Given the description of an element on the screen output the (x, y) to click on. 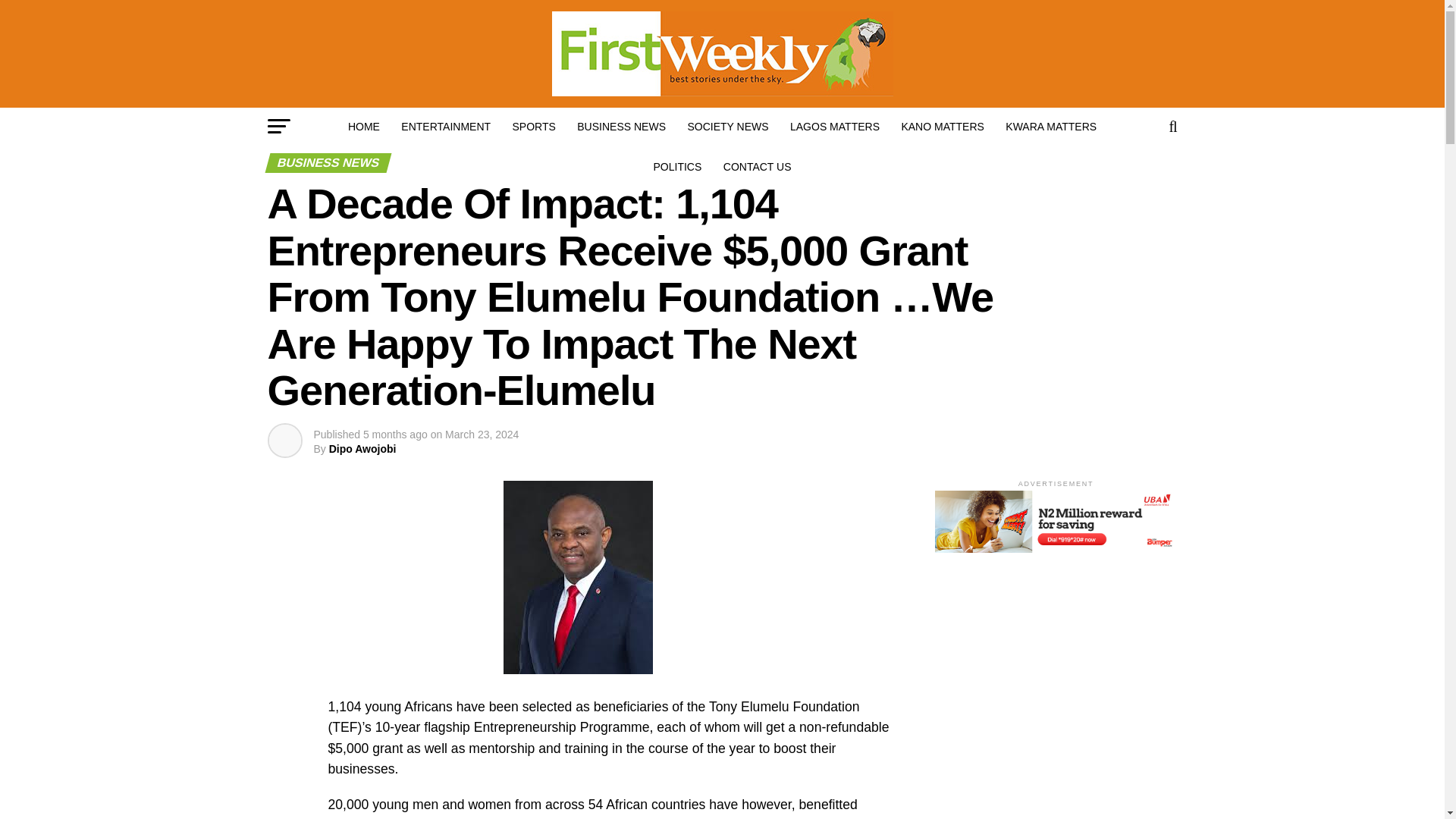
HOME (363, 126)
BUSINESS NEWS (621, 126)
Dipo Awojobi (362, 449)
LAGOS MATTERS (834, 126)
CONTACT US (757, 166)
POLITICS (678, 166)
Posts by Dipo Awojobi (362, 449)
SPORTS (533, 126)
SOCIETY NEWS (727, 126)
KWARA MATTERS (1050, 126)
